Given the description of an element on the screen output the (x, y) to click on. 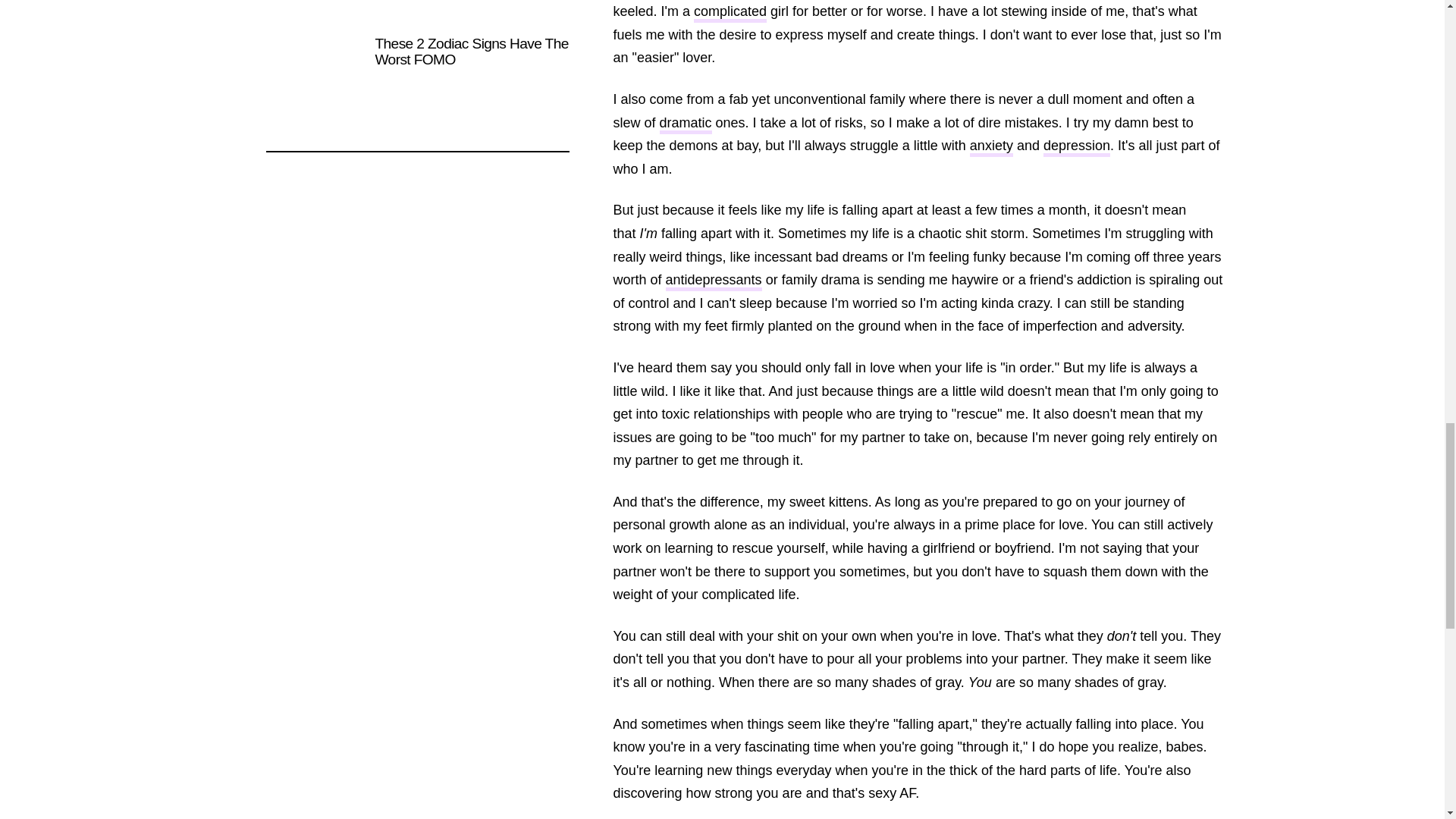
These 2 Zodiac Signs Have The Worst FOMO (416, 81)
dramatic (685, 124)
antidepressants (713, 281)
anxiety (991, 147)
complicated (730, 13)
depression (1076, 147)
